Given the description of an element on the screen output the (x, y) to click on. 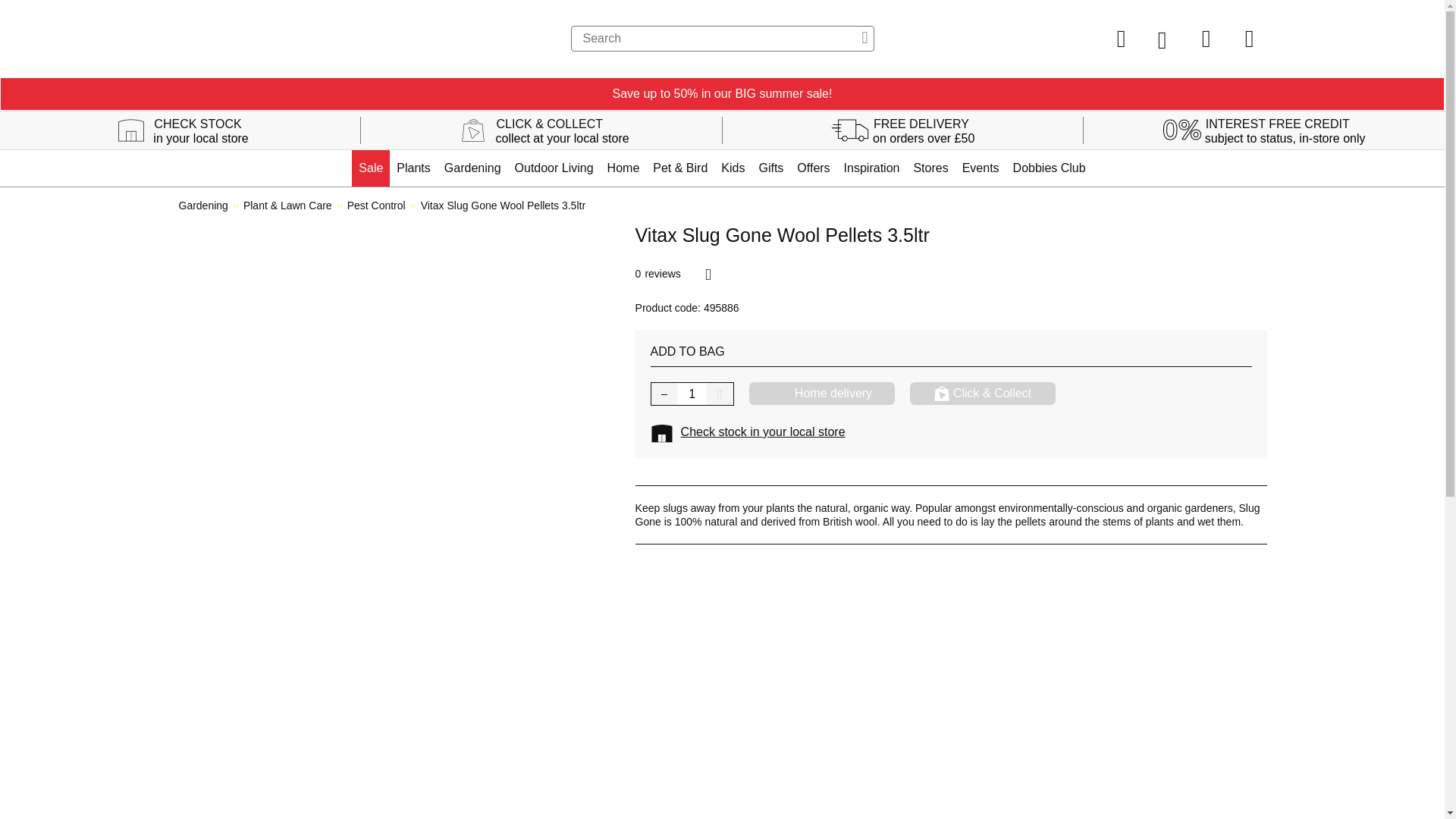
CHECK STOCK (196, 127)
Search (721, 38)
INTEREST FREE CREDIT (1278, 127)
Sale (371, 167)
Plants (413, 167)
Cart (1248, 38)
Press to increment quantity by 1 (719, 393)
FREE DELIVERY (920, 127)
1 (691, 393)
